Given the description of an element on the screen output the (x, y) to click on. 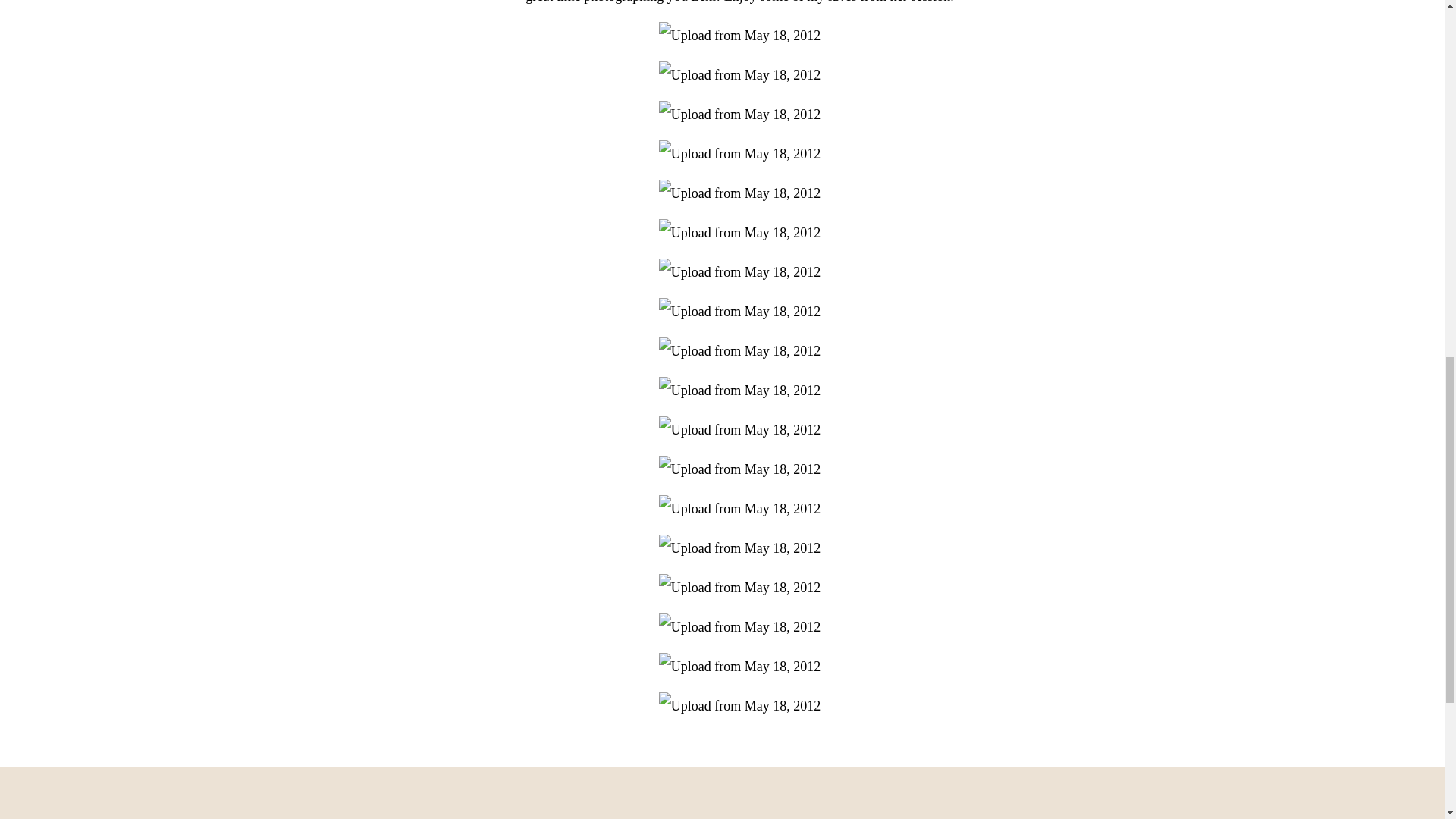
Upload from May 18, 2012 (740, 232)
Upload from May 18, 2012 (740, 547)
Upload from May 18, 2012 (740, 271)
Upload from May 18, 2012 (740, 508)
Upload from May 18, 2012 (740, 390)
Upload from May 18, 2012 (740, 193)
Upload from May 18, 2012 (740, 35)
Upload from May 18, 2012 (740, 350)
Upload from May 18, 2012 (740, 311)
Upload from May 18, 2012 (740, 113)
Upload from May 18, 2012 (740, 74)
Upload from May 18, 2012 (740, 153)
Upload from May 18, 2012 (740, 469)
Upload from May 18, 2012 (740, 587)
Upload from May 18, 2012 (740, 429)
